Given the description of an element on the screen output the (x, y) to click on. 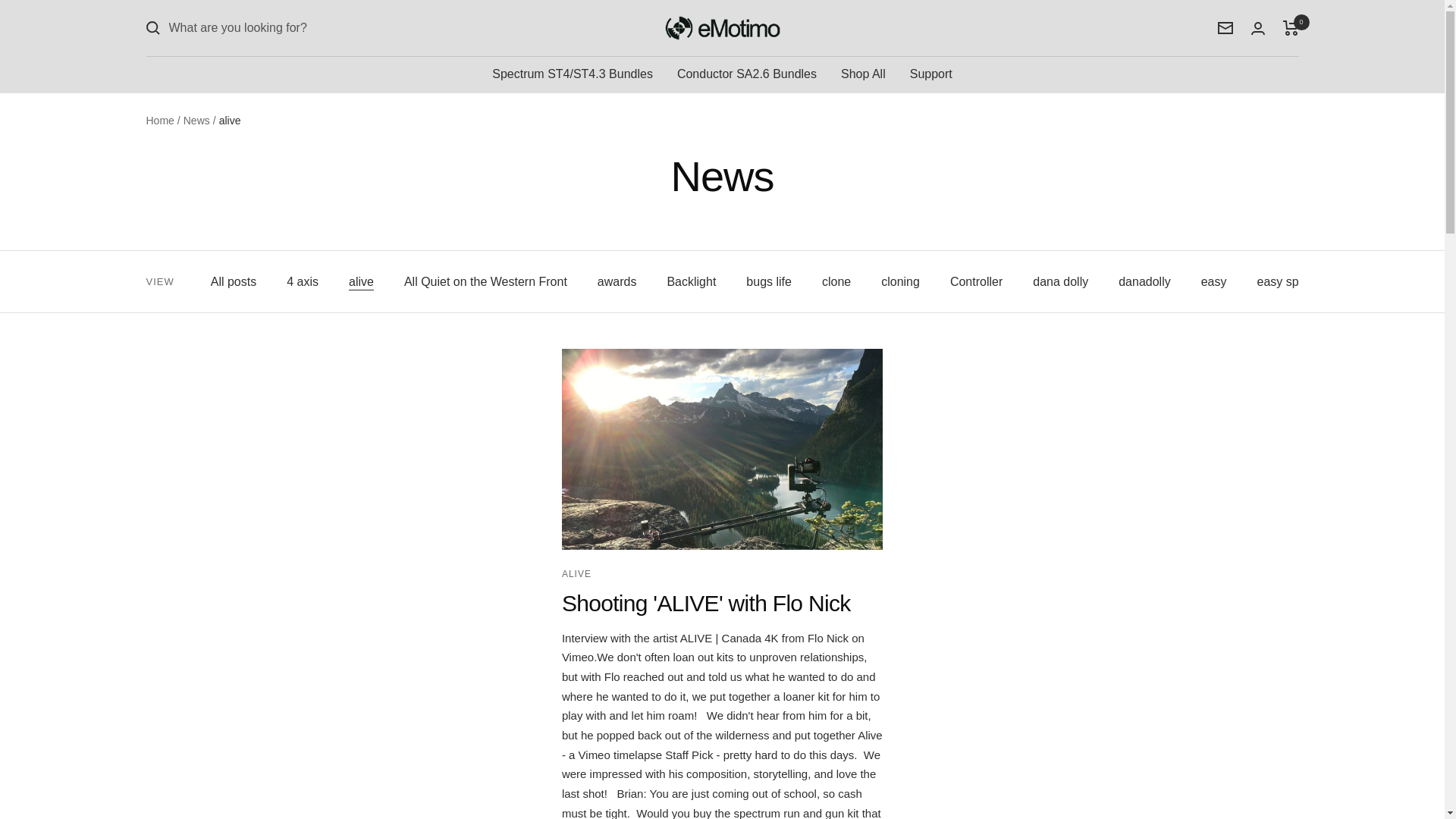
Shop All (863, 74)
awards (616, 281)
Show articles tagged danadolly (1144, 281)
Newsletter (1225, 28)
Focus (1398, 281)
Backlight (691, 281)
Support (931, 74)
Show articles tagged Focus (1398, 281)
Controller (976, 281)
easy (1214, 281)
All Quiet on the Western Front (485, 281)
All posts (233, 281)
Show articles tagged 4 axis (302, 281)
Show articles tagged Controller (976, 281)
Show articles tagged dana dolly (1059, 281)
